Given the description of an element on the screen output the (x, y) to click on. 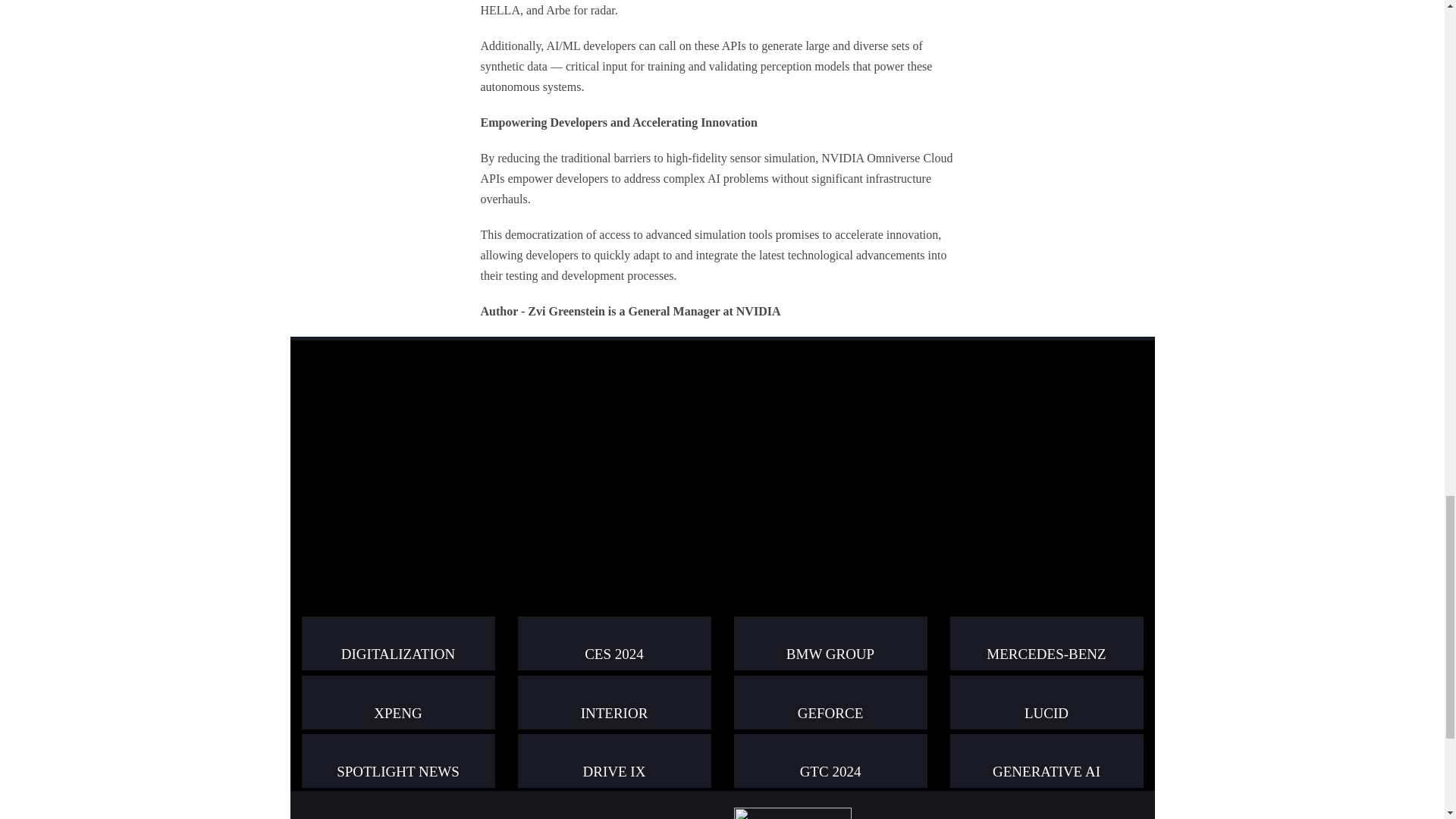
Follow Nvidia on Facebook - opens in a new window (670, 817)
